Given the description of an element on the screen output the (x, y) to click on. 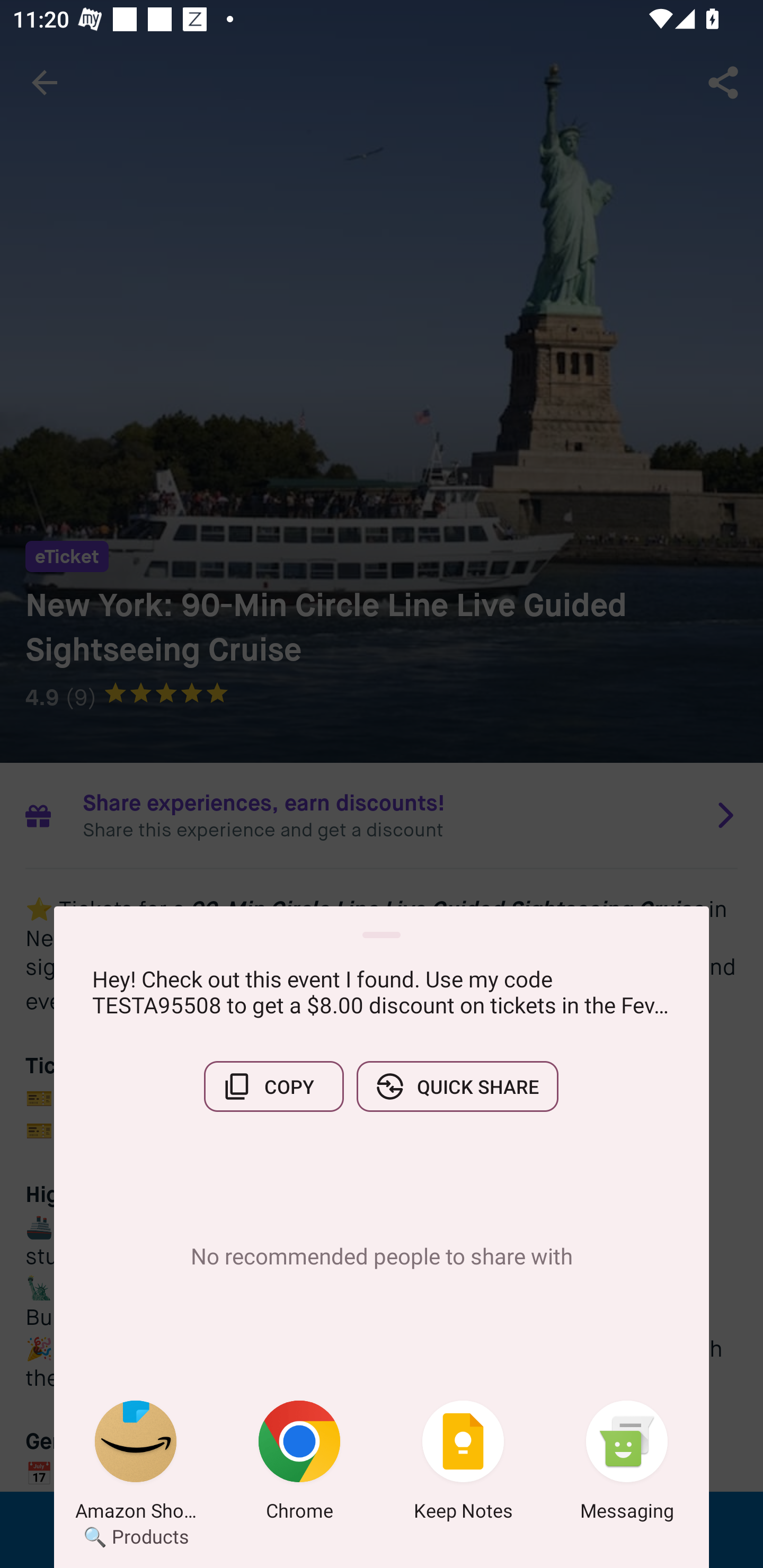
COPY (273, 1086)
QUICK SHARE (457, 1086)
Amazon Shopping 🔍 Products (135, 1463)
Chrome (299, 1463)
Keep Notes (463, 1463)
Messaging (626, 1463)
